Given the description of an element on the screen output the (x, y) to click on. 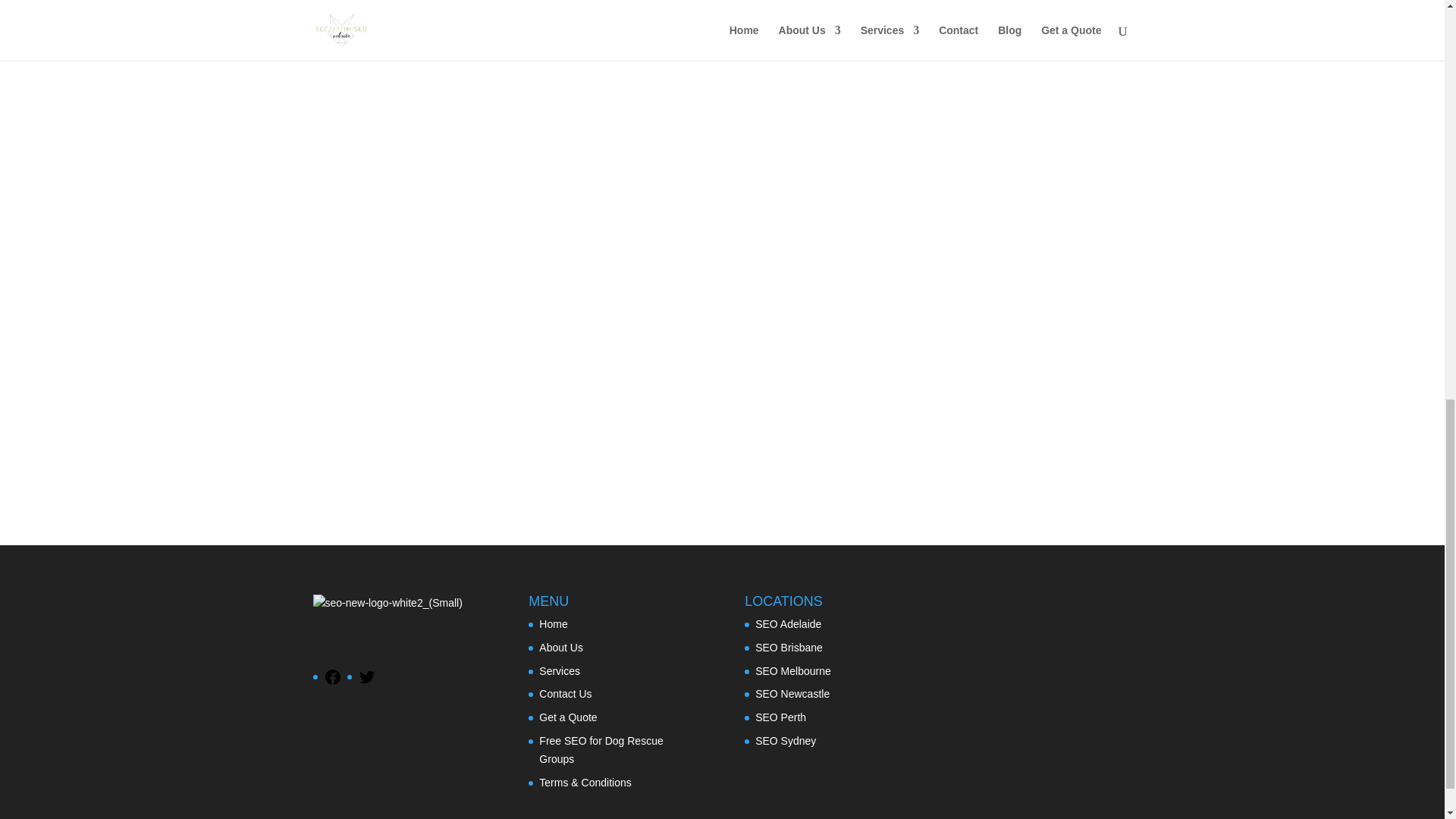
About Us (560, 647)
Services (558, 671)
Contact Us (564, 693)
Get a Quote (567, 717)
Facebook (331, 682)
Home (552, 623)
Twitter (366, 682)
